Given the description of an element on the screen output the (x, y) to click on. 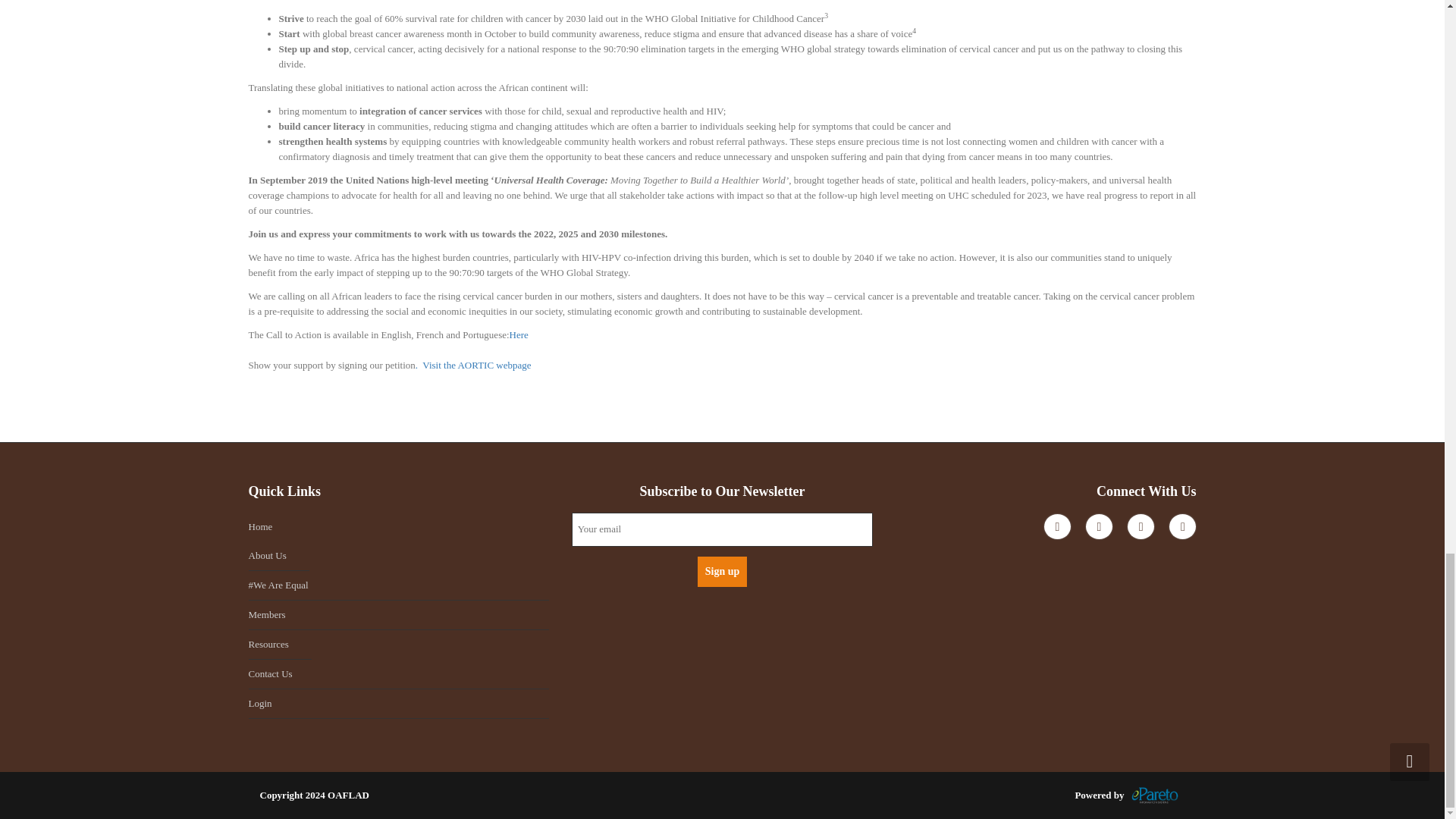
Sign up (722, 571)
About Us (278, 555)
Here (518, 334)
Home (399, 526)
Visit the AORTIC webpage (476, 365)
